Given the description of an element on the screen output the (x, y) to click on. 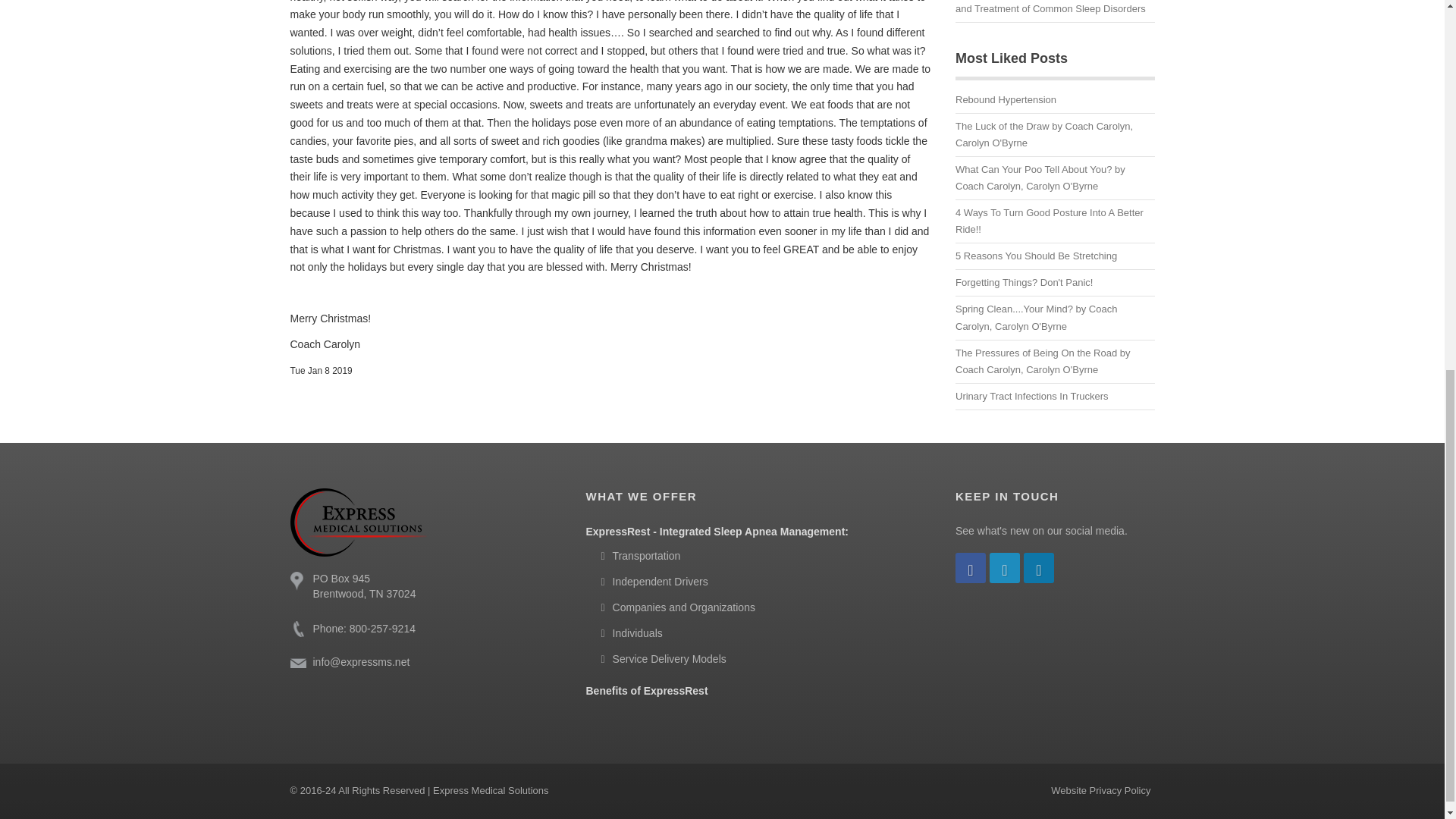
ExpressRest - Integrated Sleep Apnea Management: (716, 531)
Forgetting Things? Don't Panic! (1054, 285)
The Luck of the Draw by Coach Carolyn, Carolyn O'Byrne (1054, 137)
Spring Clean....Your Mind? by Coach Carolyn, Carolyn O'Byrne (1054, 320)
Urinary Tract Infections In Truckers (1054, 399)
4 Ways To Turn Good Posture Into A Better Ride!! (1054, 223)
Rebound Hypertension (1054, 102)
Transportation (639, 555)
5 Reasons You Should Be Stretching (1054, 259)
